Given the description of an element on the screen output the (x, y) to click on. 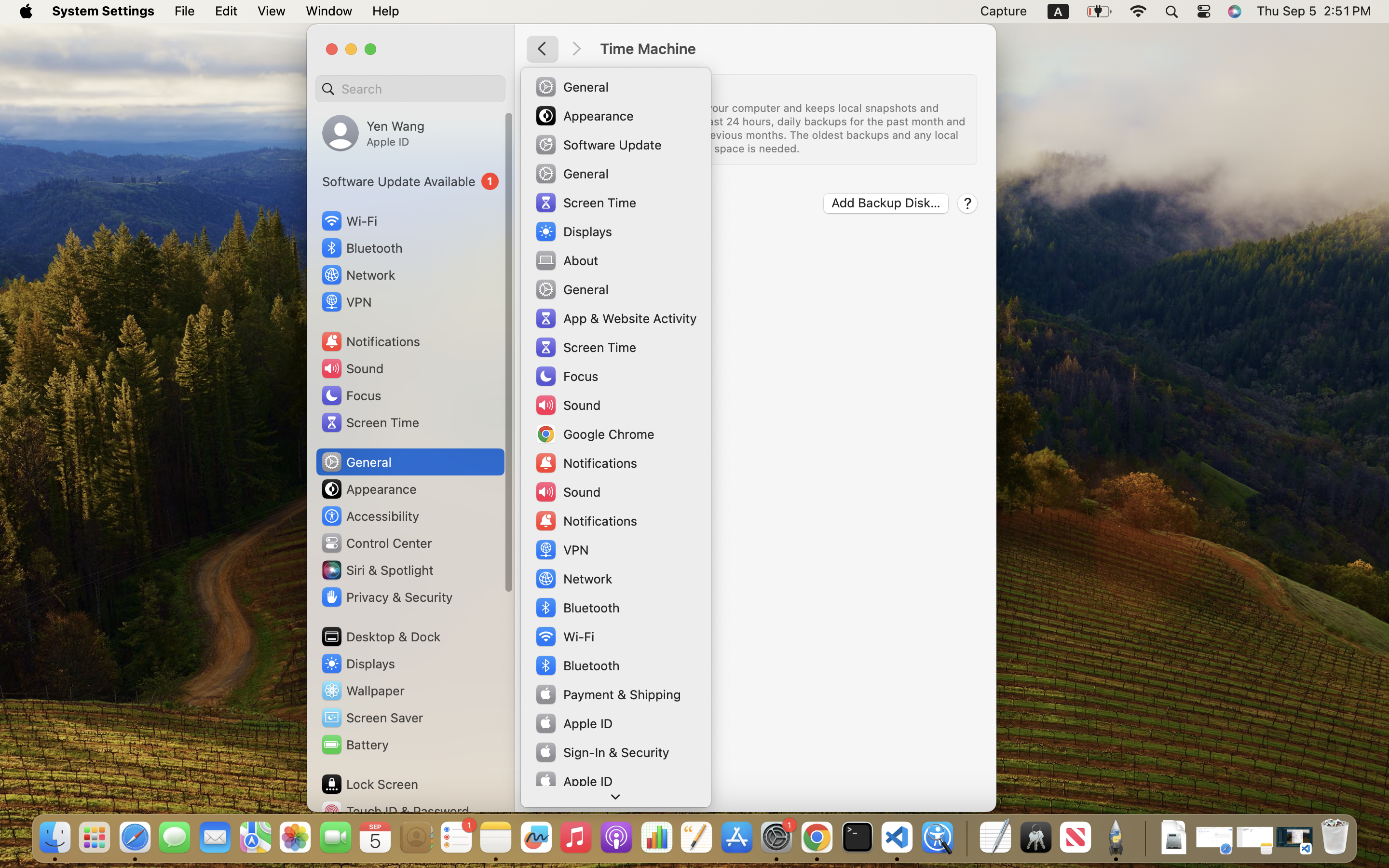
Appearance Element type: AXStaticText (368, 488)
